Given the description of an element on the screen output the (x, y) to click on. 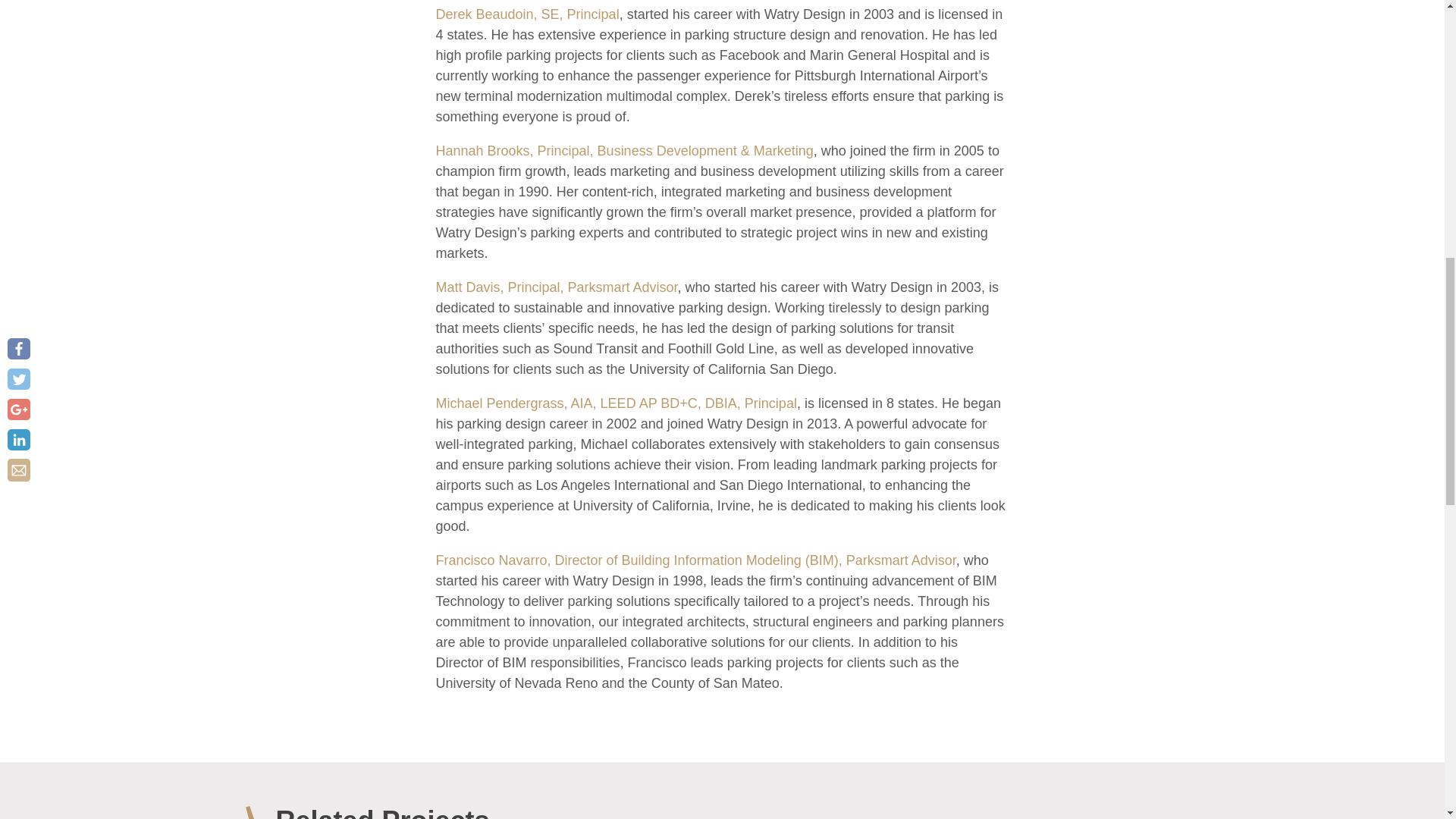
Matt Davis, Principal, Parksmart Advisor (556, 287)
Derek Beaudoin, SE, Principal (526, 14)
